Given the description of an element on the screen output the (x, y) to click on. 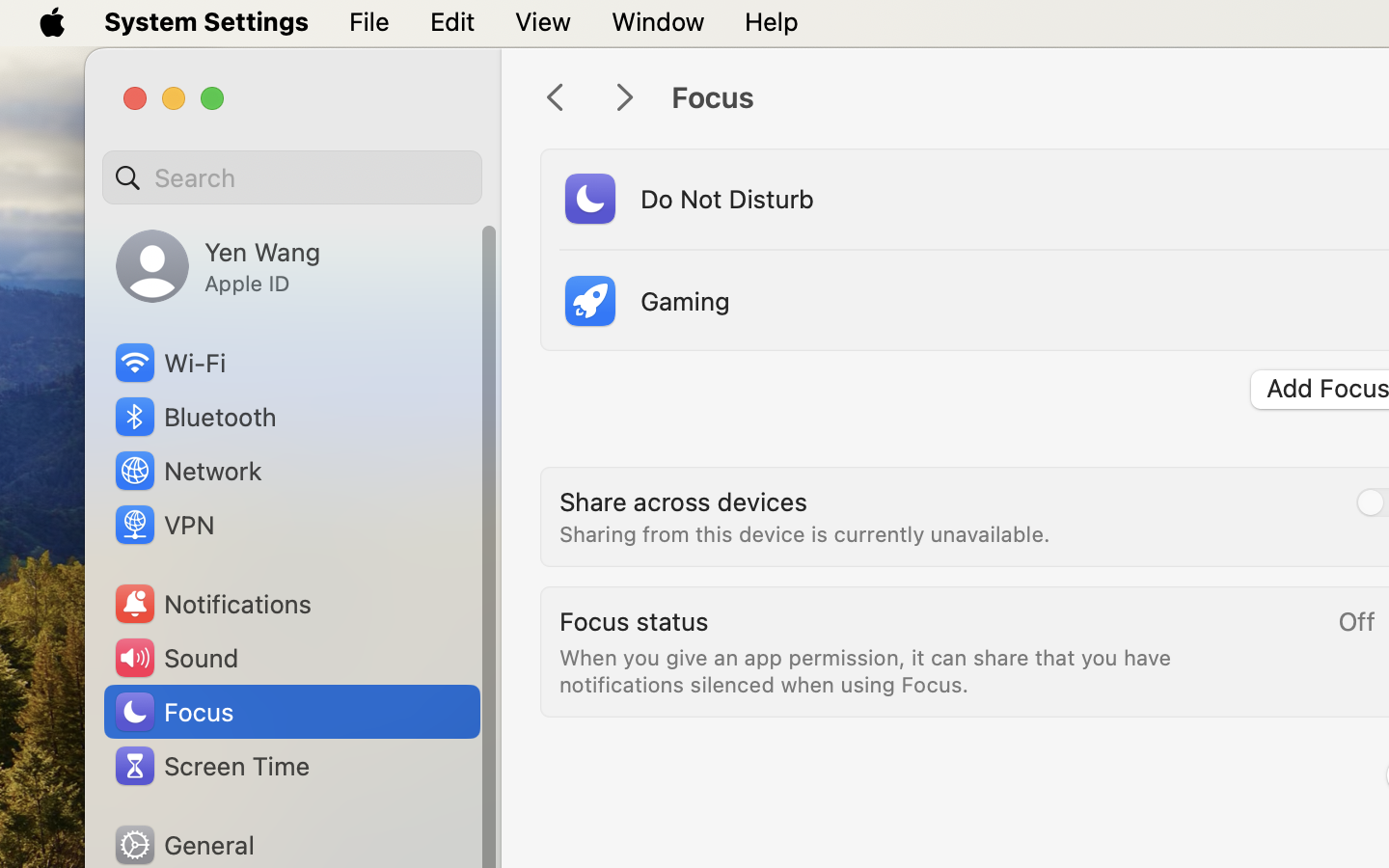
VPN Element type: AXStaticText (162, 524)
Bluetooth Element type: AXStaticText (194, 416)
Wi‑Fi Element type: AXStaticText (168, 362)
Notifications Element type: AXStaticText (211, 603)
Screen Time Element type: AXStaticText (210, 765)
